Given the description of an element on the screen output the (x, y) to click on. 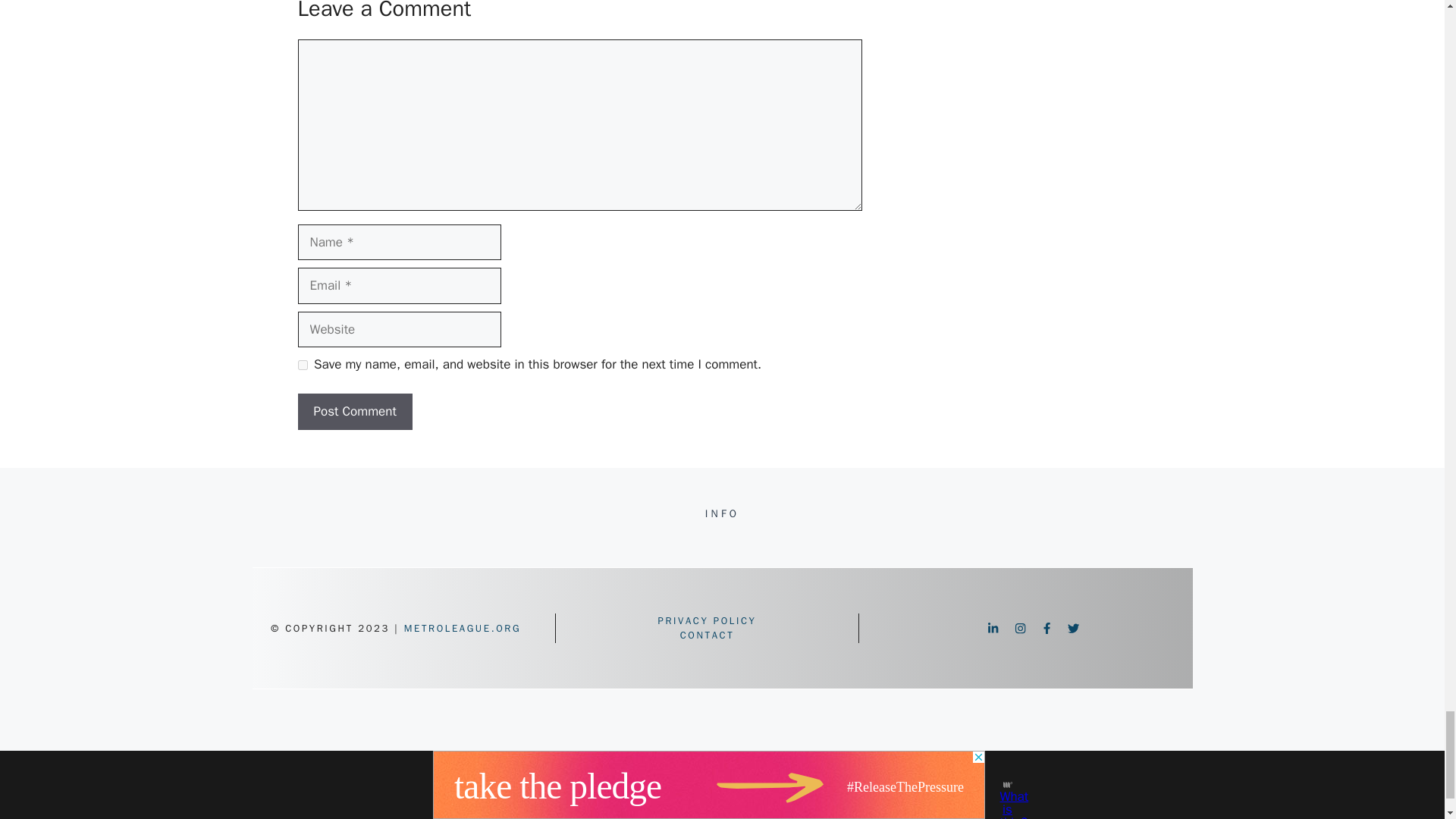
yes (302, 365)
Post Comment (354, 411)
Post Comment (354, 411)
